Given the description of an element on the screen output the (x, y) to click on. 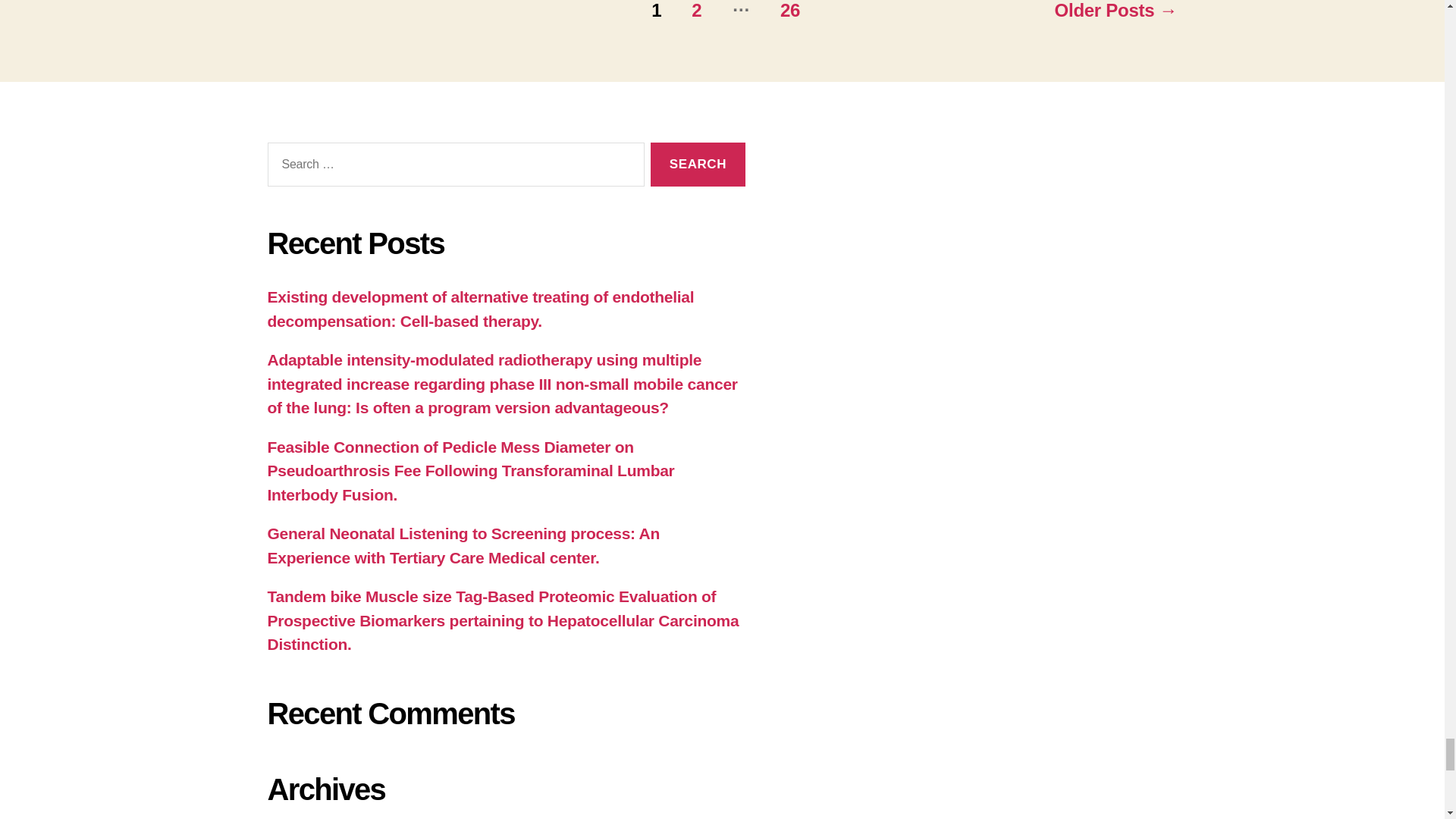
Search (697, 164)
Search (697, 164)
